Given the description of an element on the screen output the (x, y) to click on. 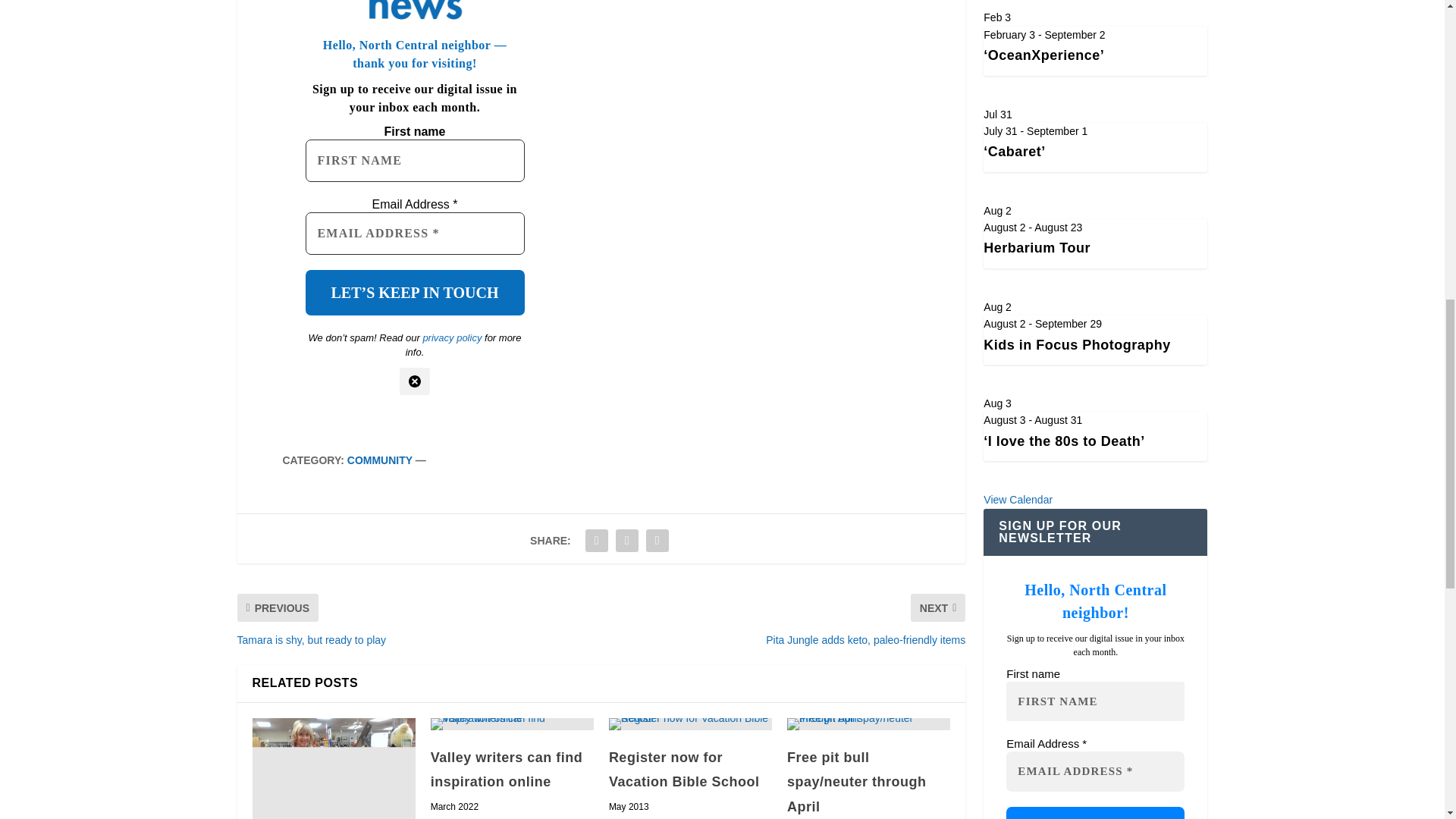
Register now for Vacation Bible School (689, 724)
Share "Your pet may be allergic to its food" via Email (657, 540)
Share "Your pet may be allergic to its food" via Facebook (595, 540)
ALP Thrift extends Saturday hours (332, 768)
COMMUNITY (379, 460)
Email Address (414, 233)
Valley writers can find inspiration online (506, 769)
View all posts in Community (379, 460)
Share "Your pet may be allergic to its food" via Twitter (626, 540)
Sign me up! (1095, 812)
